Given the description of an element on the screen output the (x, y) to click on. 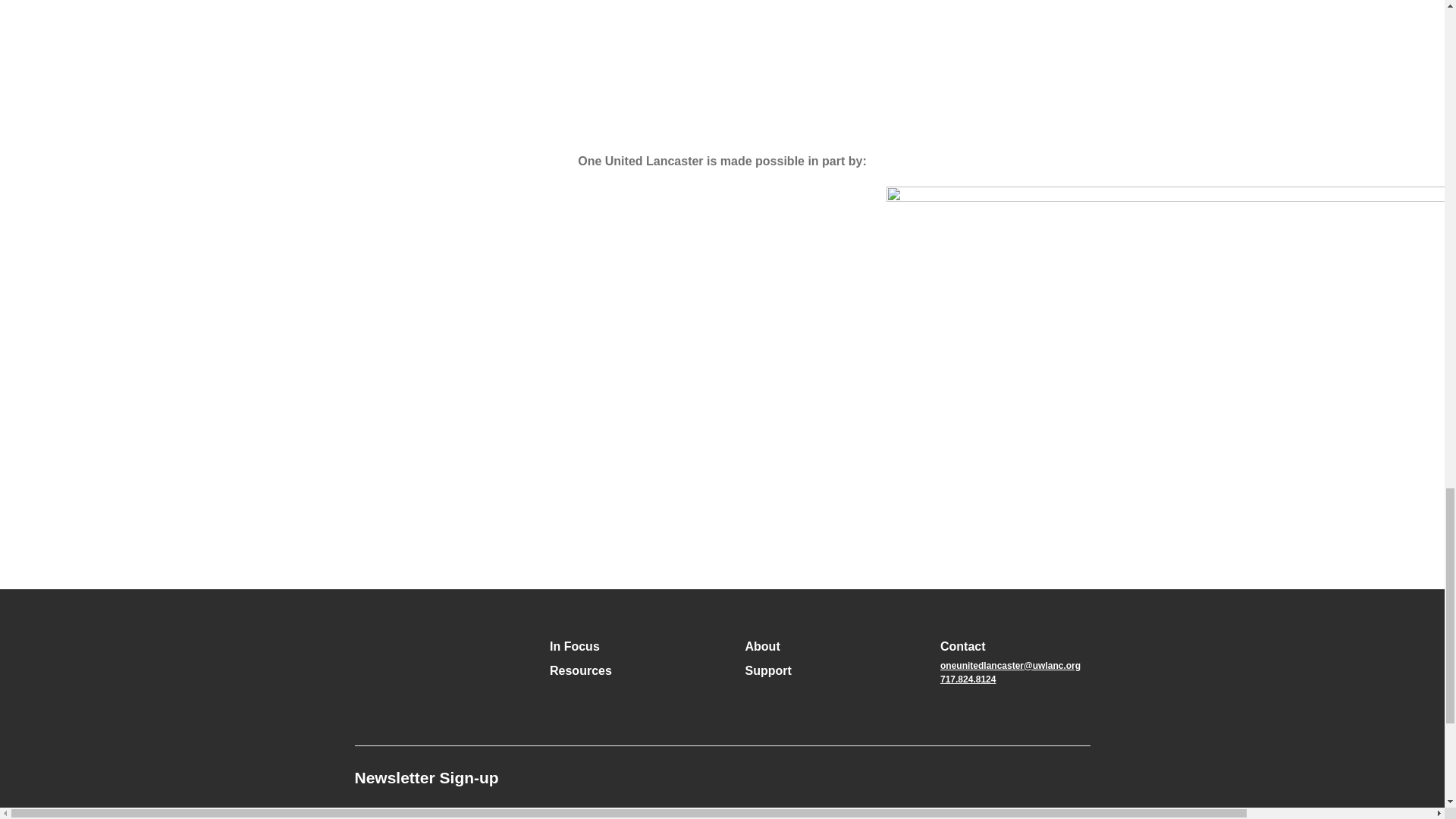
Contact (962, 646)
About (761, 646)
717.824.8124 (967, 679)
Resources (580, 671)
Support (767, 671)
In Focus (574, 646)
